Given the description of an element on the screen output the (x, y) to click on. 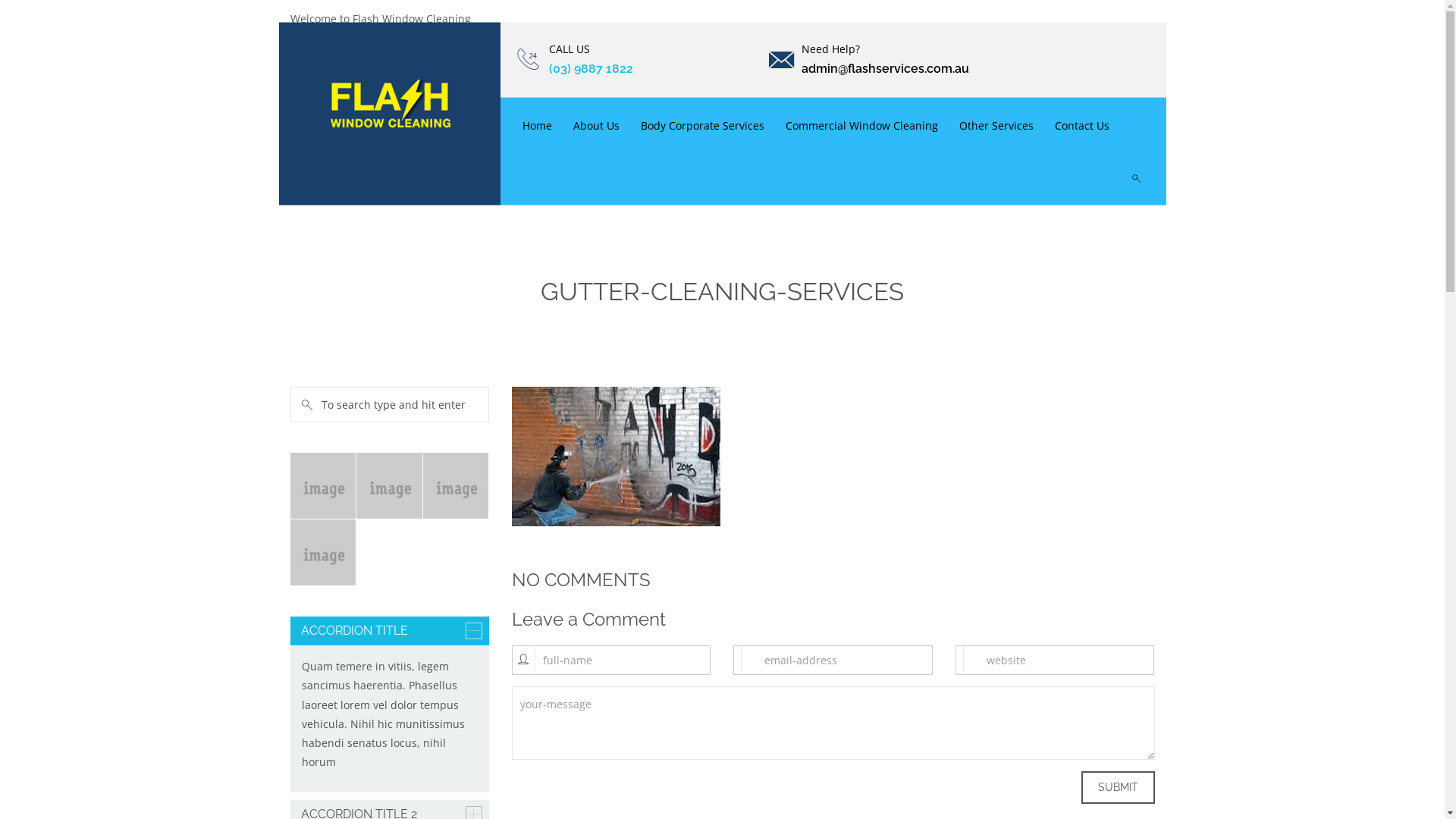
Other Services Element type: text (996, 124)
(03) 9887 1822 Element type: text (591, 68)
NEXT Element type: text (332, 342)
Body Corporate Services Element type: text (702, 124)
Commercial Window Cleaning Element type: text (861, 124)
About Us Element type: text (596, 124)
Submit Element type: text (1117, 787)
Search Element type: text (23, 11)
Contact Us Element type: text (1082, 124)
Home Element type: text (536, 124)
Send Element type: text (1118, 327)
Home Element type: text (653, 322)
